Given the description of an element on the screen output the (x, y) to click on. 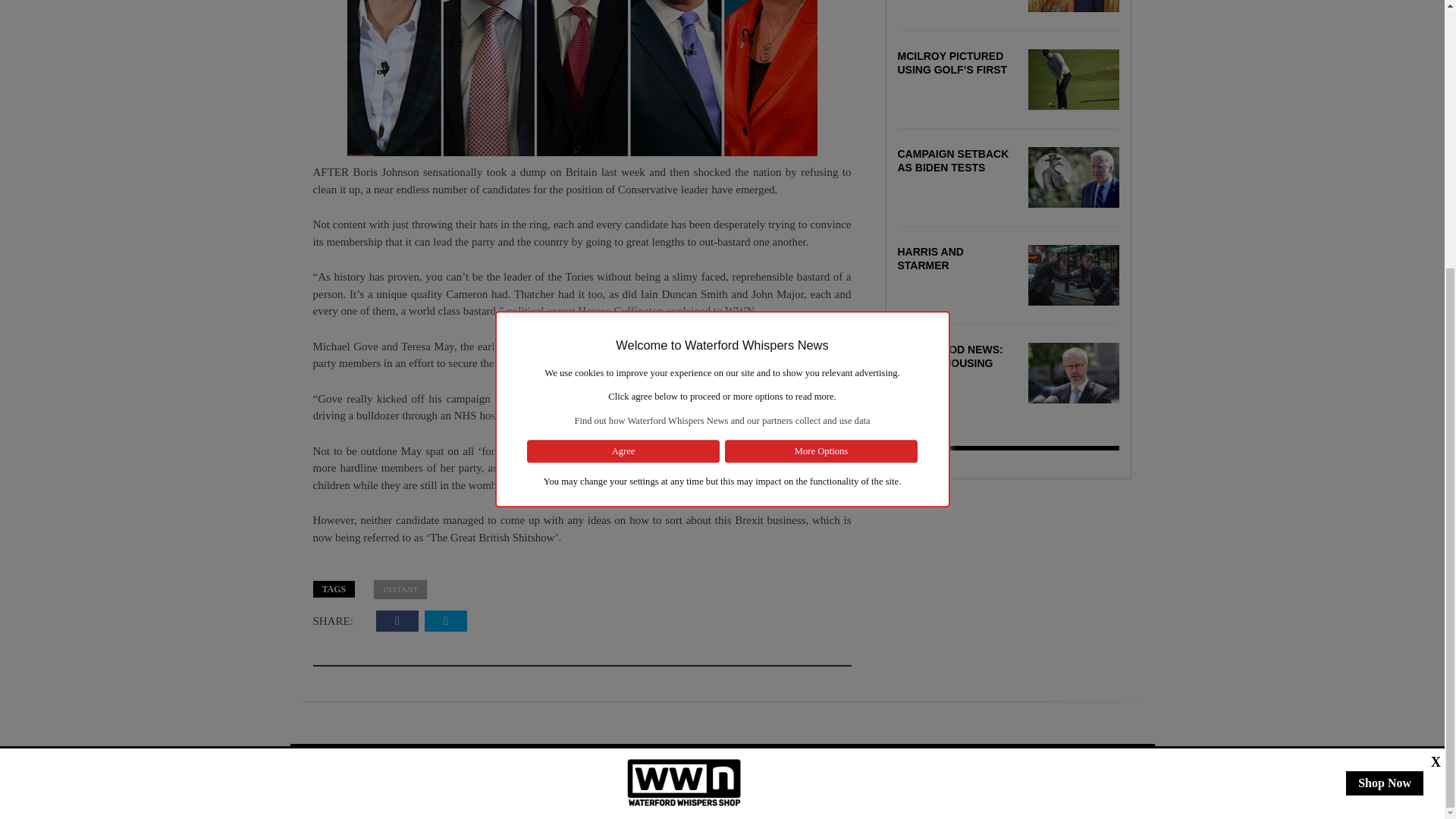
View all posts tagged instant (400, 589)
Support us on waterfordwhispers.shop (684, 391)
